Given the description of an element on the screen output the (x, y) to click on. 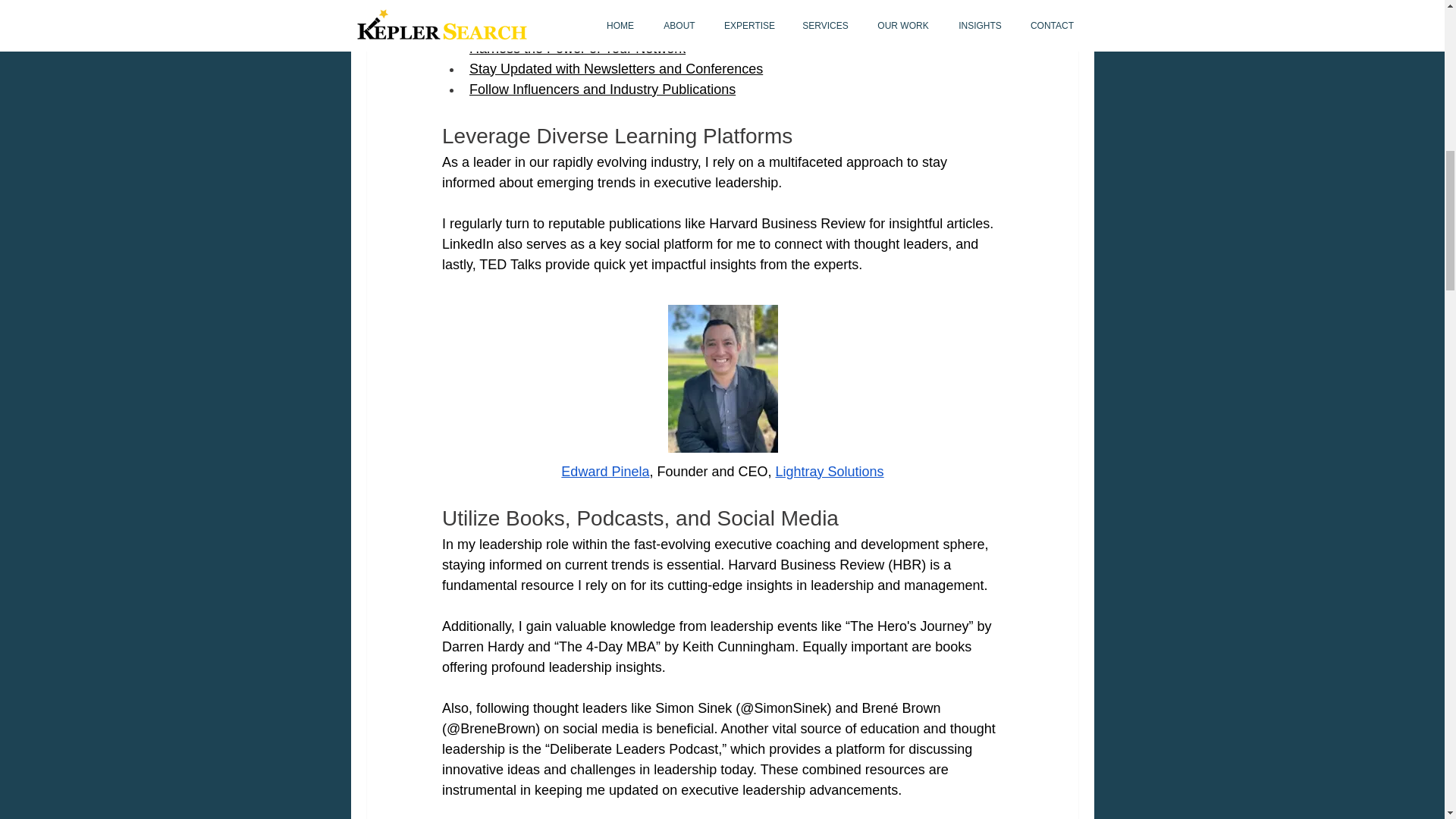
Stay Updated with Newsletters and Conferences (614, 68)
Leverage Diverse Learning Platforms (581, 7)
Harness the Power of Your Network (576, 48)
Utilize Books, Podcasts, and Social Media (595, 27)
Edward Pinela (604, 471)
Follow Influencers and Industry Publications (601, 89)
